Given the description of an element on the screen output the (x, y) to click on. 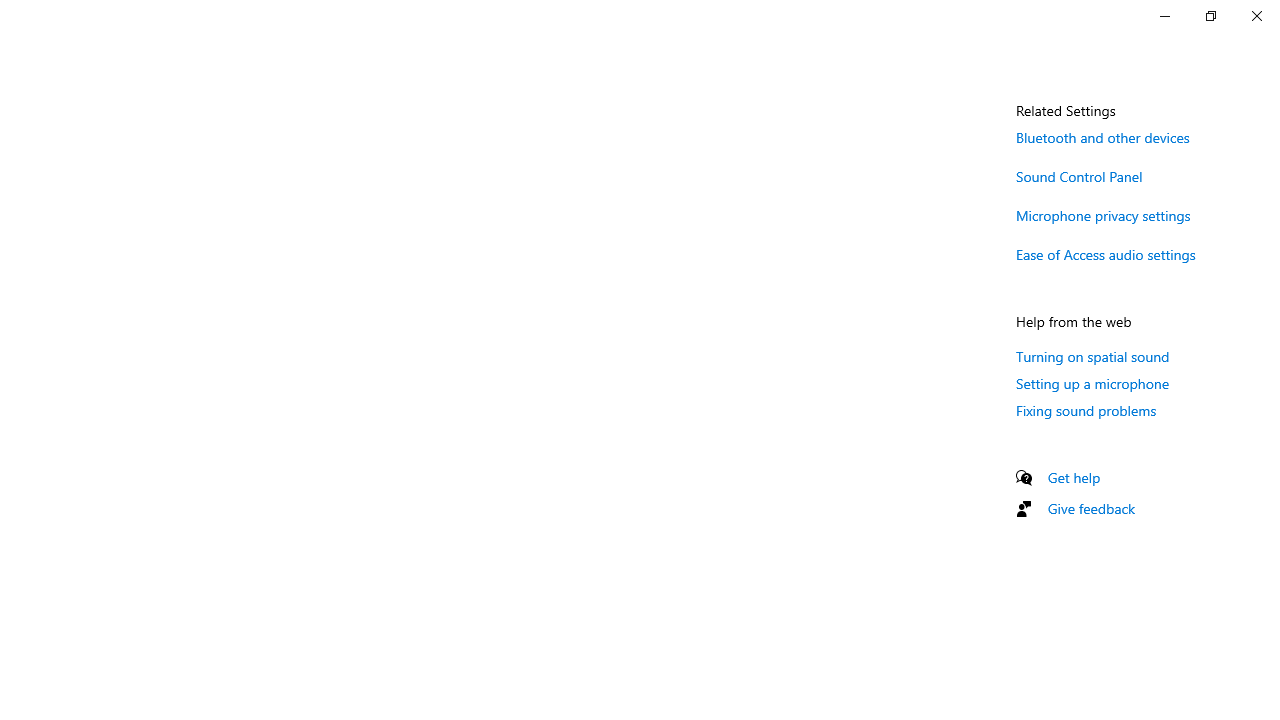
Ease of Access audio settings (1105, 254)
Turning on spatial sound (1092, 356)
Close Settings (1256, 15)
Give feedback (1091, 507)
Get help (1074, 477)
Bluetooth and other devices (1103, 137)
Sound Control Panel (1079, 176)
Microphone privacy settings (1103, 214)
Restore Settings (1210, 15)
Setting up a microphone (1092, 383)
Fixing sound problems (1086, 410)
Minimize Settings (1164, 15)
